Given the description of an element on the screen output the (x, y) to click on. 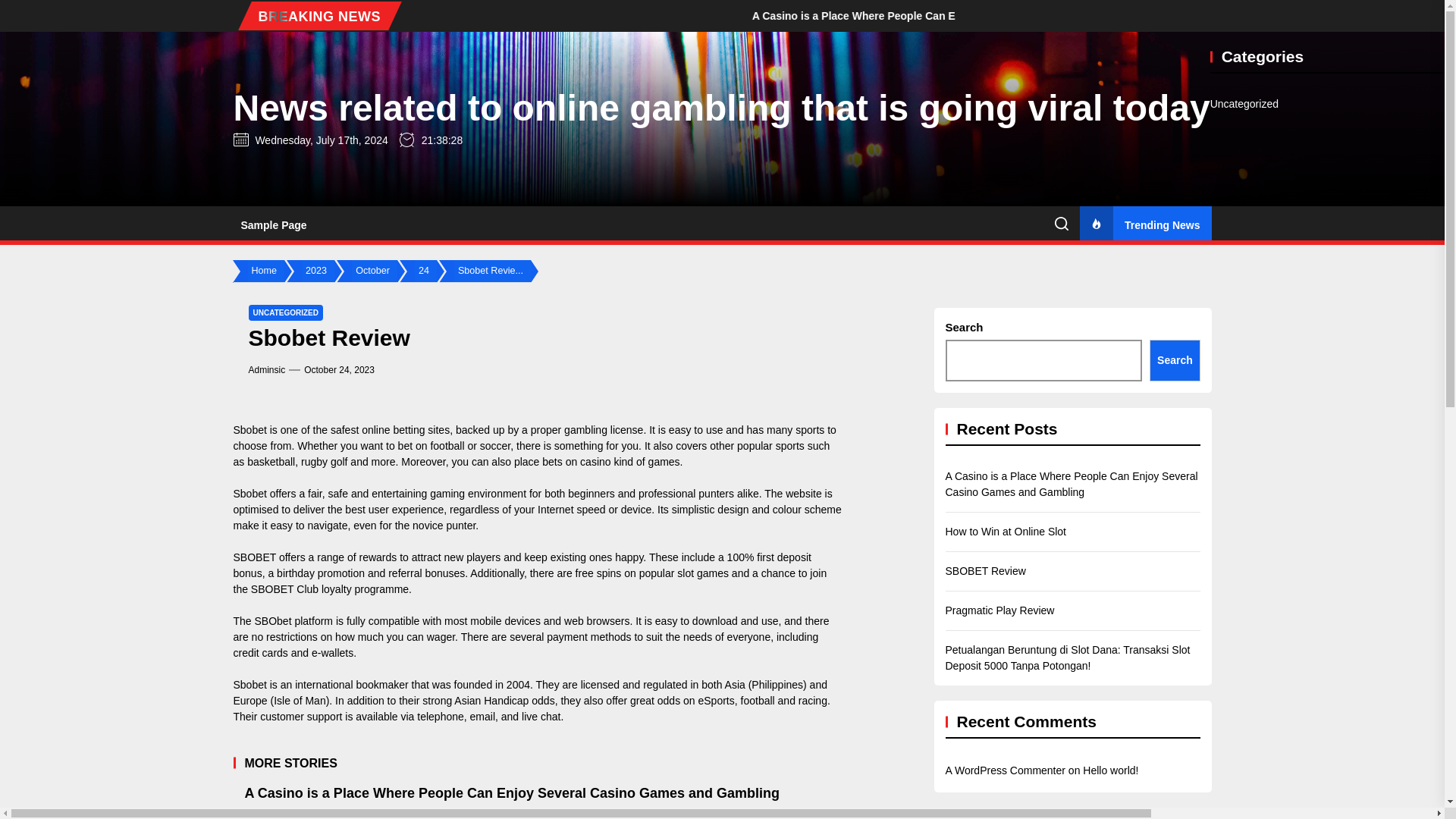
Sample Page (273, 224)
News related to online gambling that is going viral today (720, 108)
Uncategorized (1243, 104)
